Given the description of an element on the screen output the (x, y) to click on. 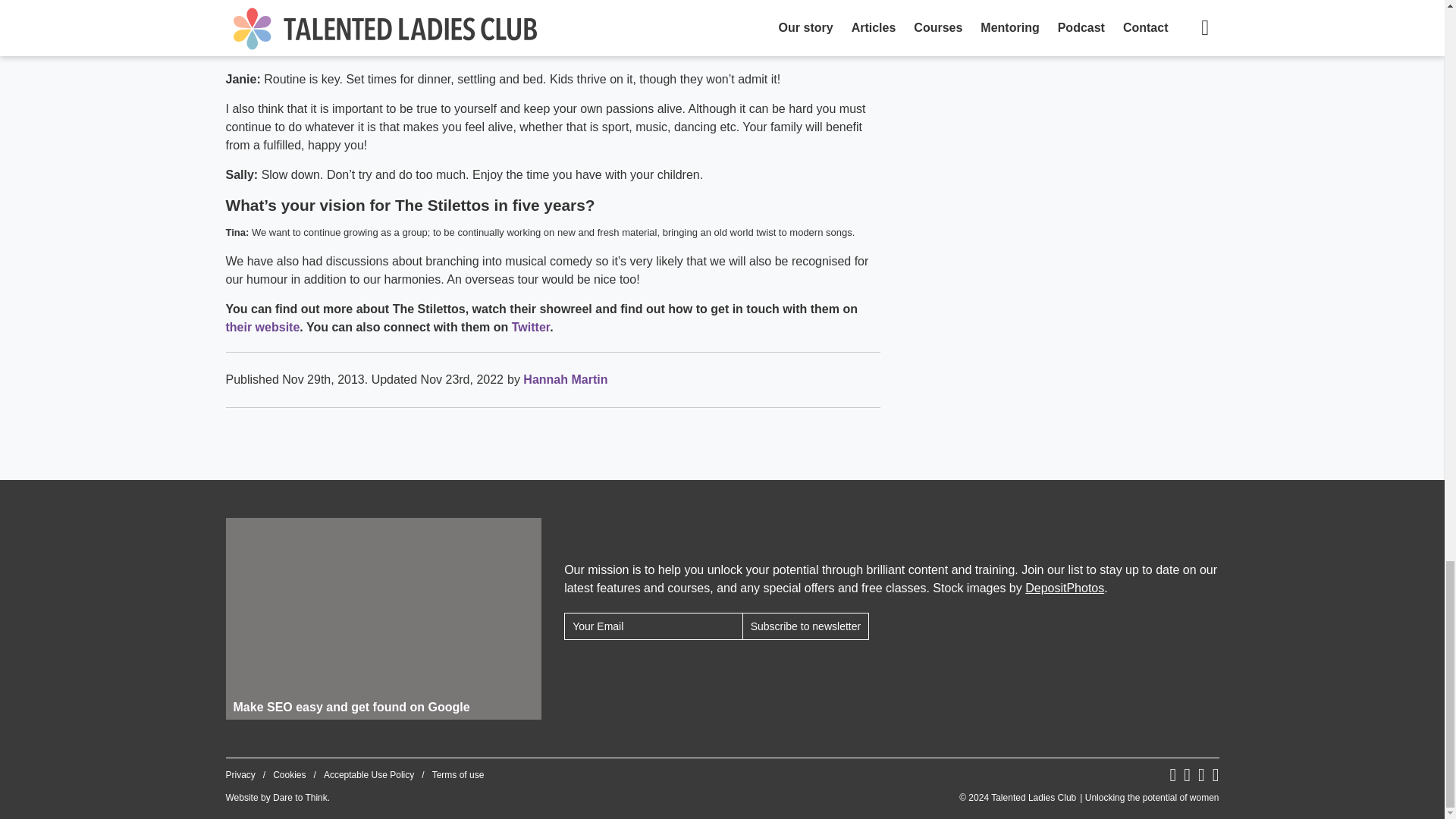
Talented Ladies Club (1088, 797)
Subscribe to newsletter (805, 625)
Website design and development services from Dare to Think (300, 797)
The Stilletos Twitter (531, 327)
The Stilletos (262, 327)
